Given the description of an element on the screen output the (x, y) to click on. 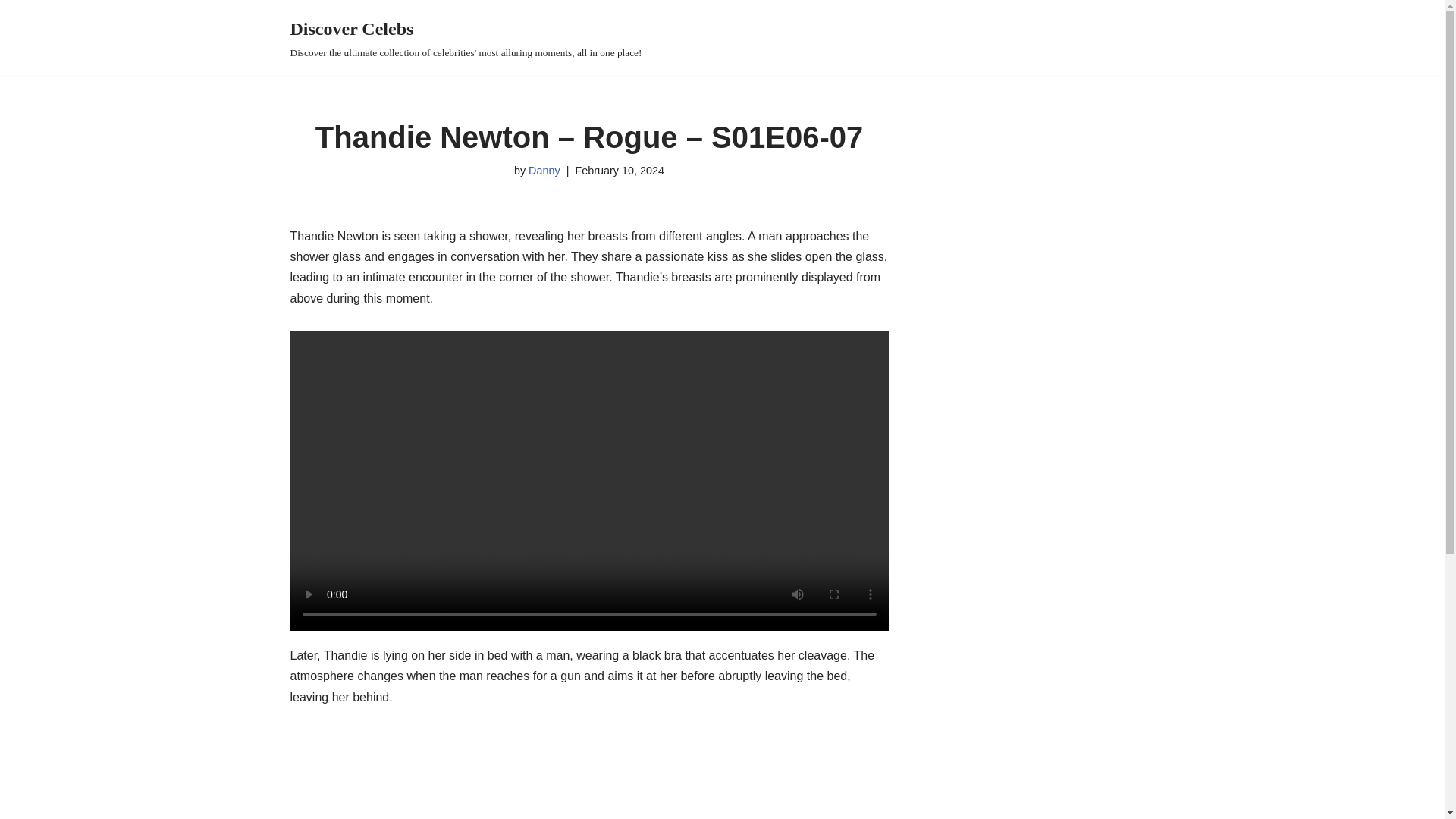
Skip to content (11, 31)
Posts by Danny (544, 170)
Danny (544, 170)
